Given the description of an element on the screen output the (x, y) to click on. 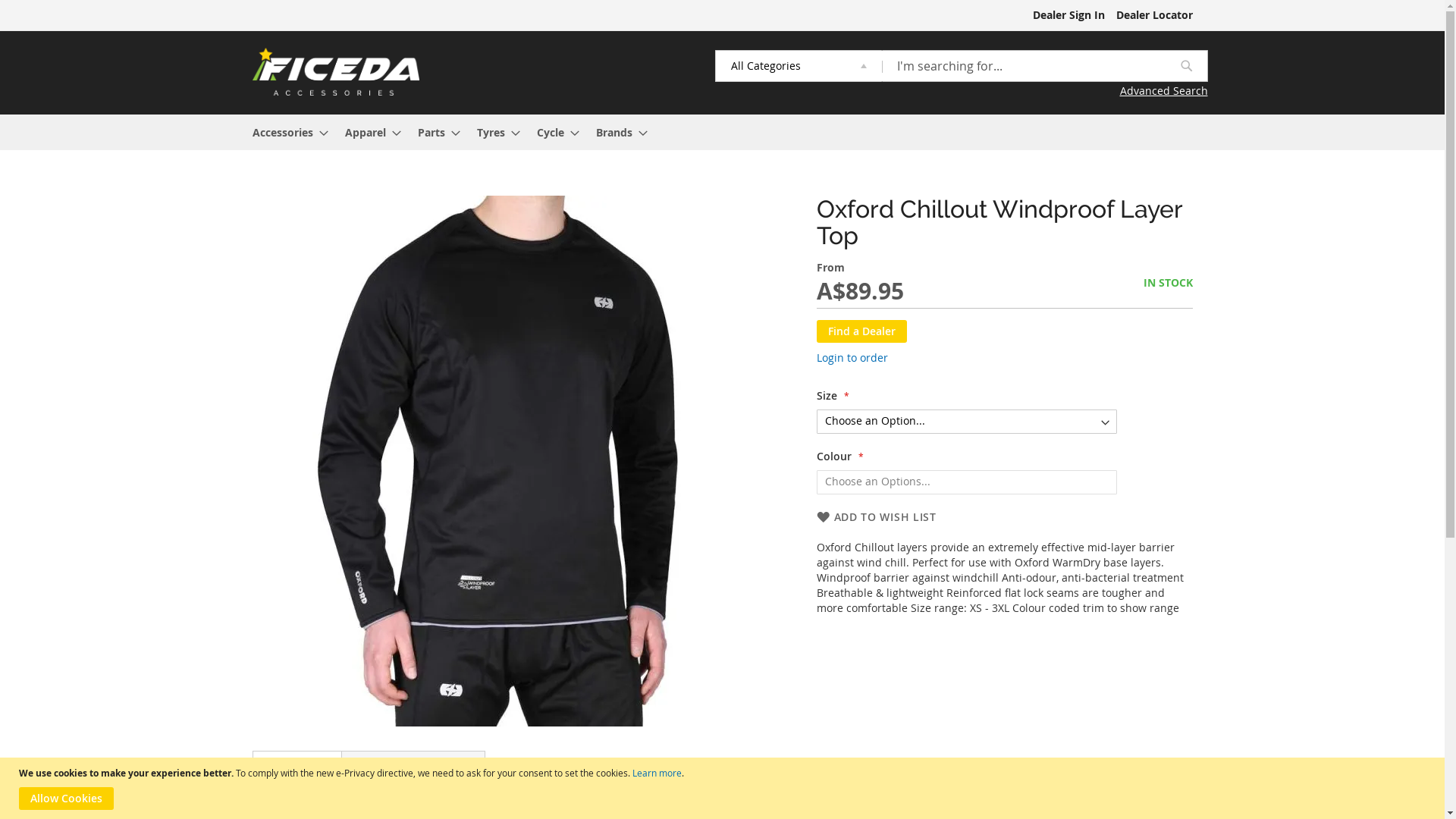
Advanced Search Element type: text (960, 90)
Cycle Element type: text (553, 132)
Dealer Locator Element type: text (1154, 14)
Skip to the beginning of the images gallery Element type: text (251, 731)
Accessories Element type: text (284, 132)
Parts Element type: text (433, 132)
Dealer Sign In Element type: text (1068, 14)
ADD TO WISH LIST Element type: text (875, 516)
Tyres Element type: text (493, 132)
Find a Dealer Element type: text (860, 330)
Allow Cookies Element type: text (65, 798)
Apparel Element type: text (367, 132)
Details Element type: text (296, 767)
Search Element type: text (1185, 65)
Brands Element type: text (616, 132)
Learn more Element type: text (656, 772)
Skip to Content Element type: text (251, 6)
Login to order Element type: text (851, 357)
Find a Dealer Element type: text (860, 331)
Skip to the end of the images gallery Element type: text (251, 194)
More Information Element type: text (413, 766)
